Given the description of an element on the screen output the (x, y) to click on. 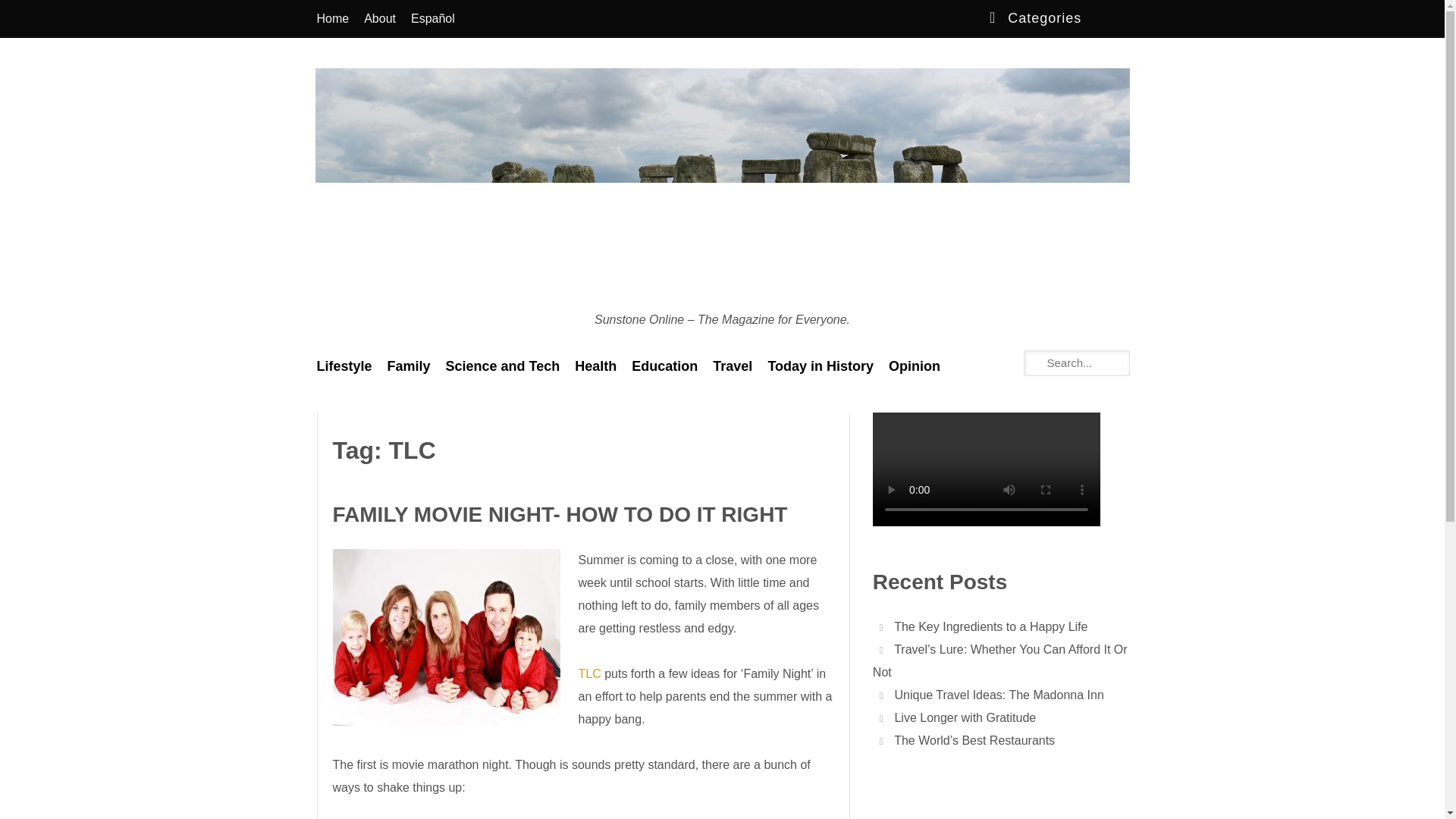
family-movie (445, 636)
Education (664, 366)
Opinion (913, 366)
Travel (732, 366)
Family (409, 366)
Science and Tech (502, 366)
Lifestyle (344, 366)
Health (595, 366)
Sunstone Online (363, 330)
Today in History (820, 366)
